Given the description of an element on the screen output the (x, y) to click on. 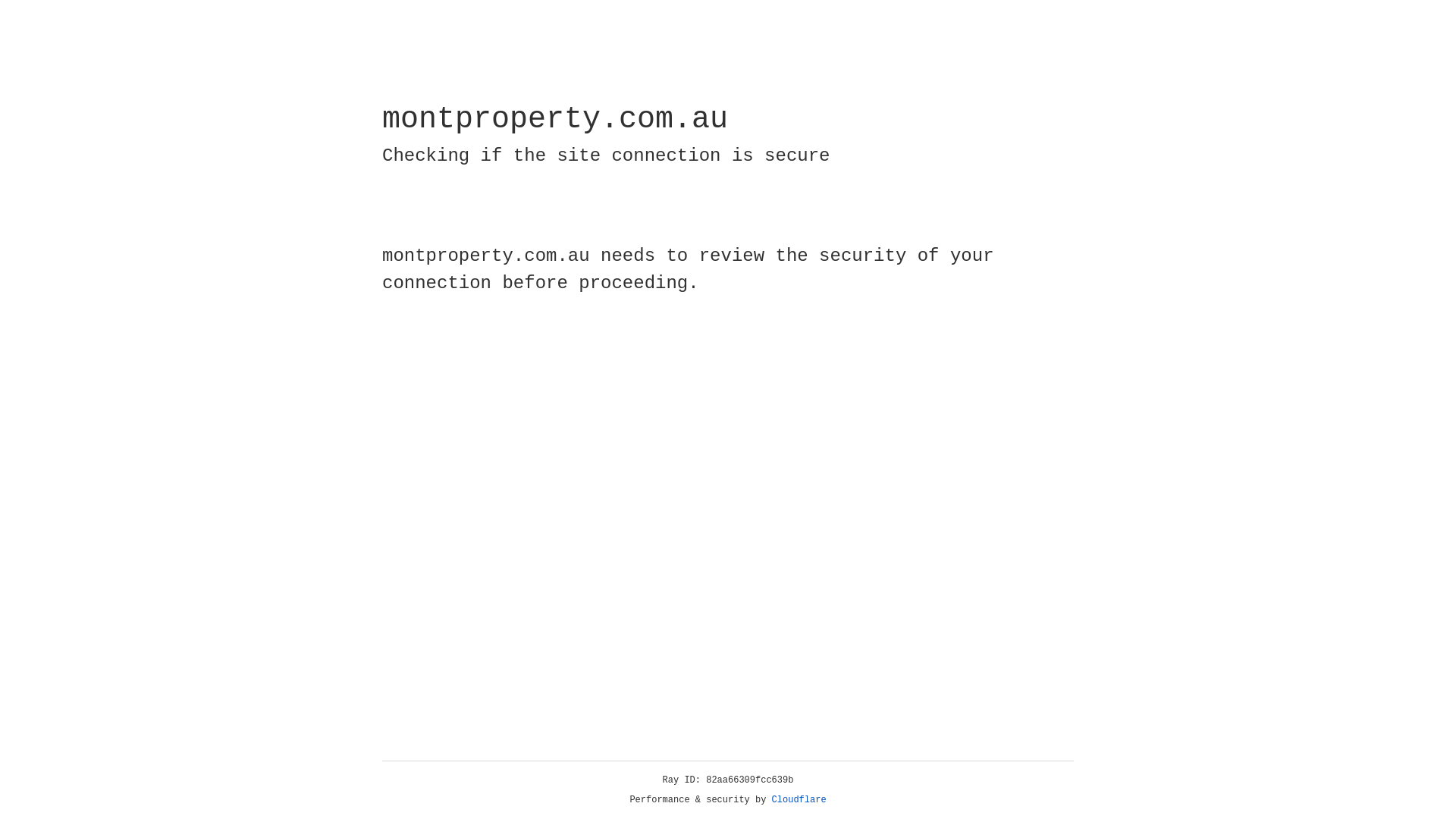
Cloudflare Element type: text (798, 799)
